Given the description of an element on the screen output the (x, y) to click on. 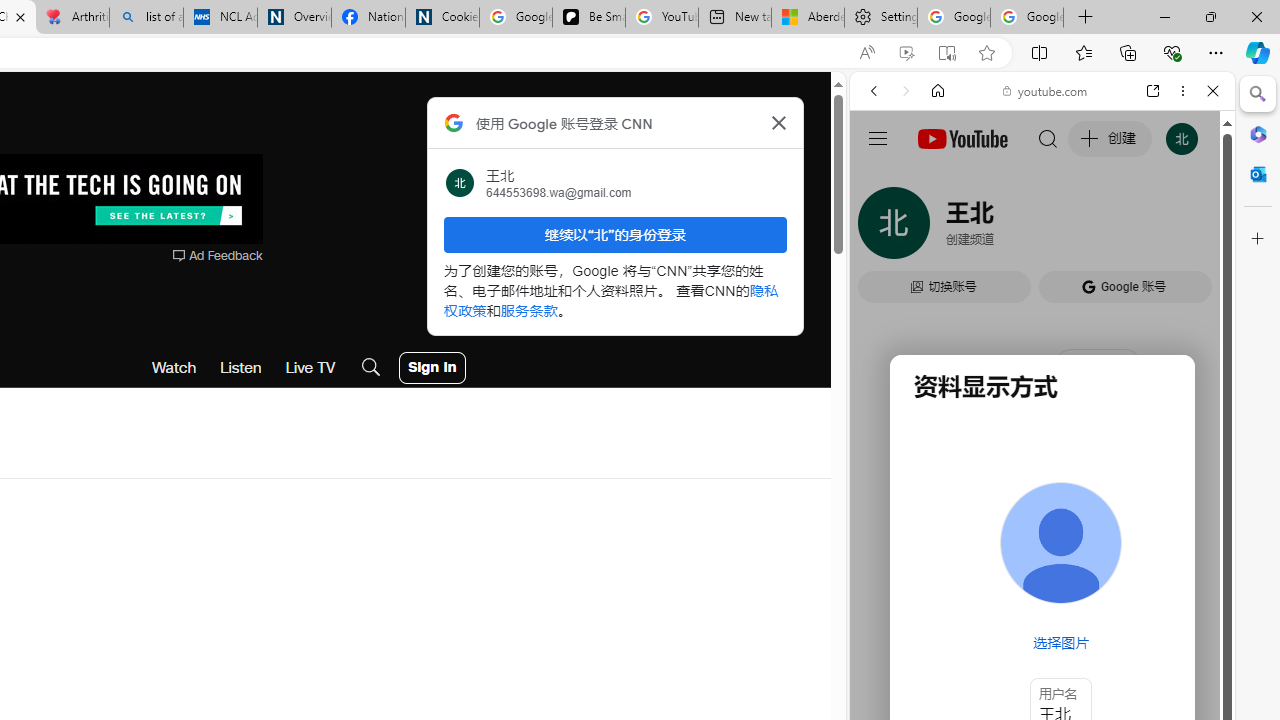
Search Filter, WEB (882, 228)
Search videos from youtube.com (1005, 657)
#you (1042, 445)
Live TV (310, 367)
WEB   (882, 228)
